Given the description of an element on the screen output the (x, y) to click on. 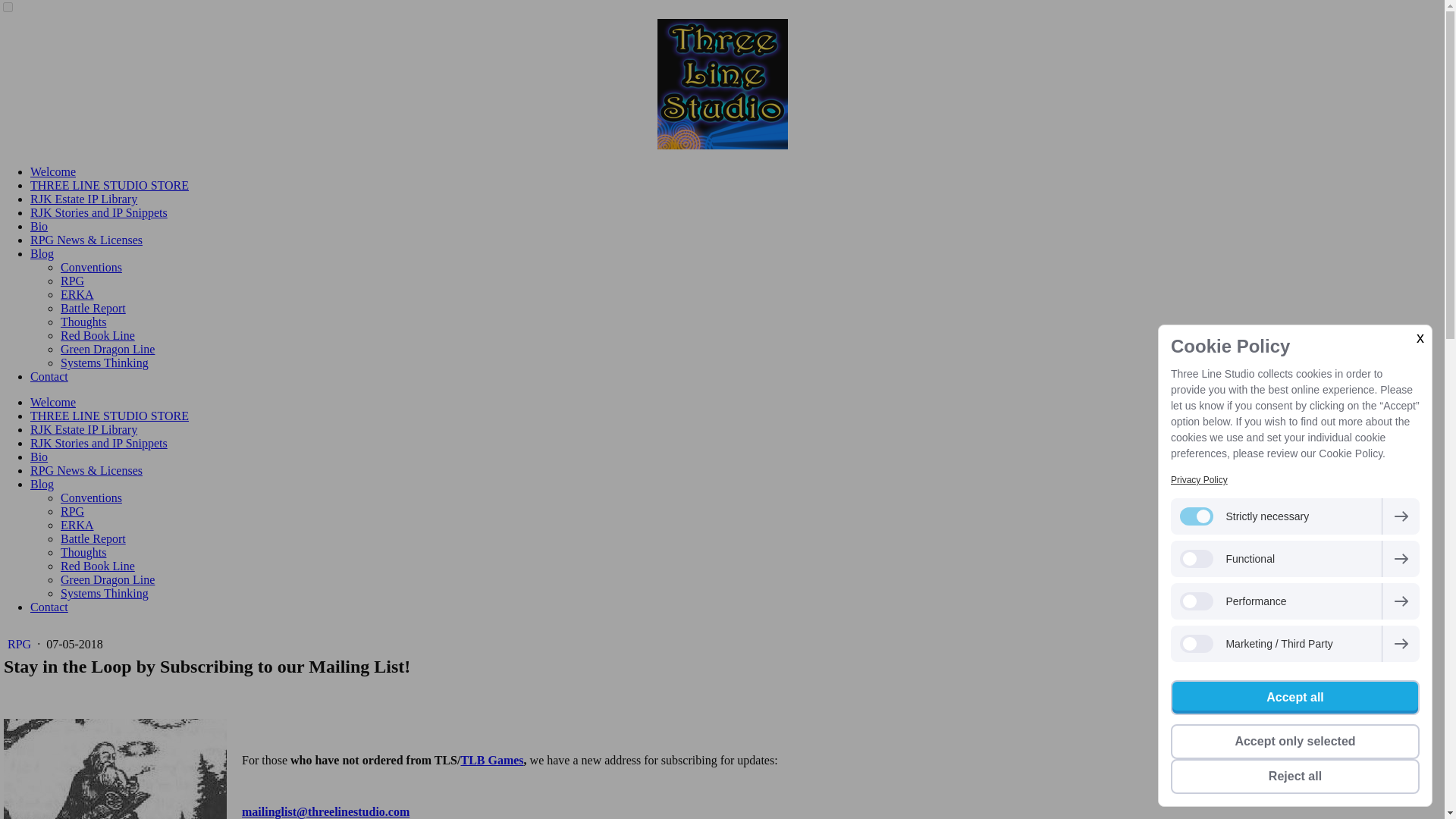
Red Book Line (98, 565)
ERKA (77, 294)
Blog (41, 253)
Contact (49, 376)
Battle Report (93, 538)
on (7, 7)
RJK Estate IP Library (83, 198)
Systems Thinking (104, 593)
Bio (39, 456)
RJK Stories and IP Snippets (98, 212)
Systems Thinking (104, 362)
ERKA (77, 524)
Conventions (91, 267)
Welcome (52, 171)
Contact (49, 606)
